Given the description of an element on the screen output the (x, y) to click on. 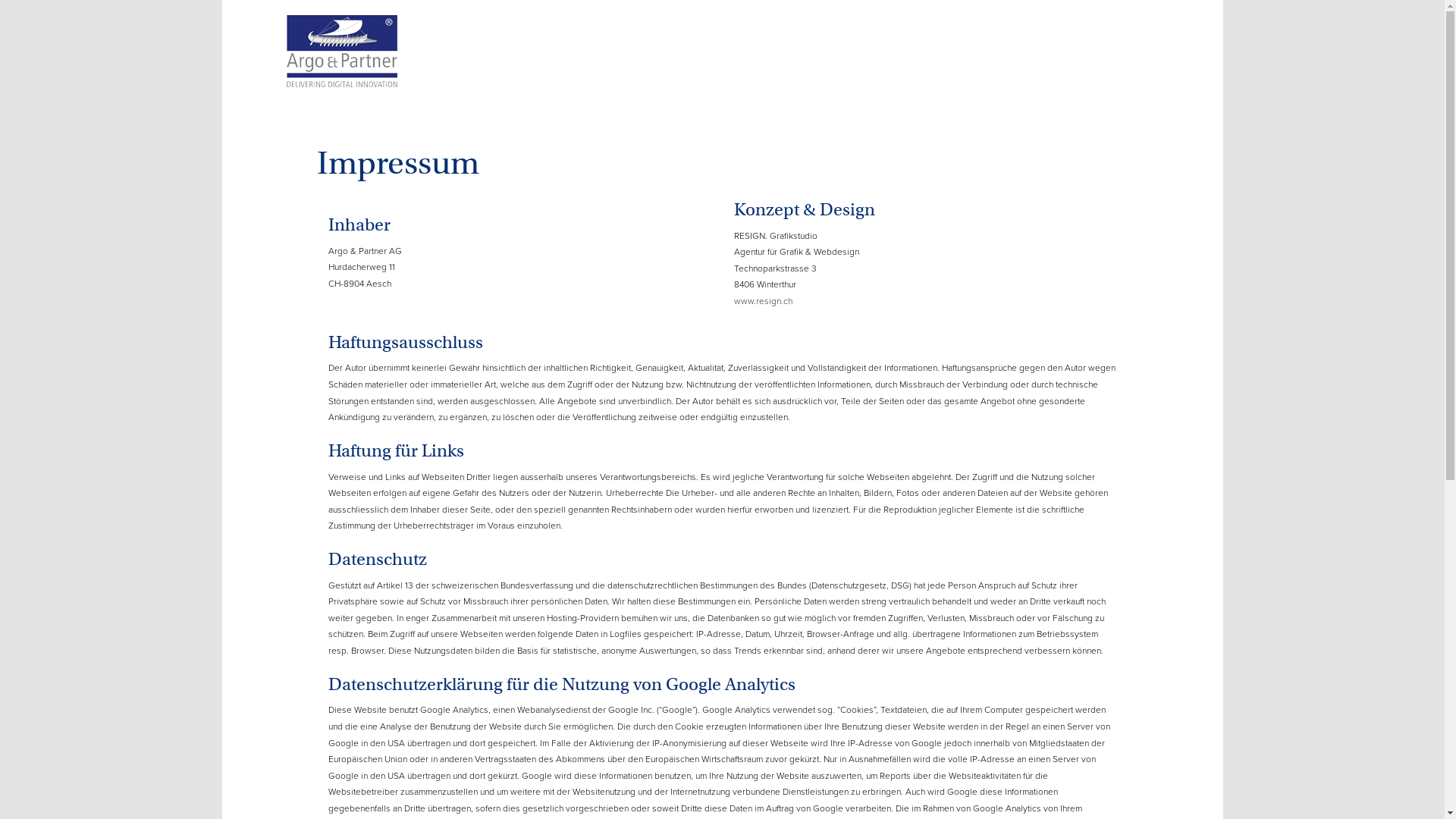
www.resign.ch Element type: text (763, 300)
Logo Element type: hover (341, 45)
